Given the description of an element on the screen output the (x, y) to click on. 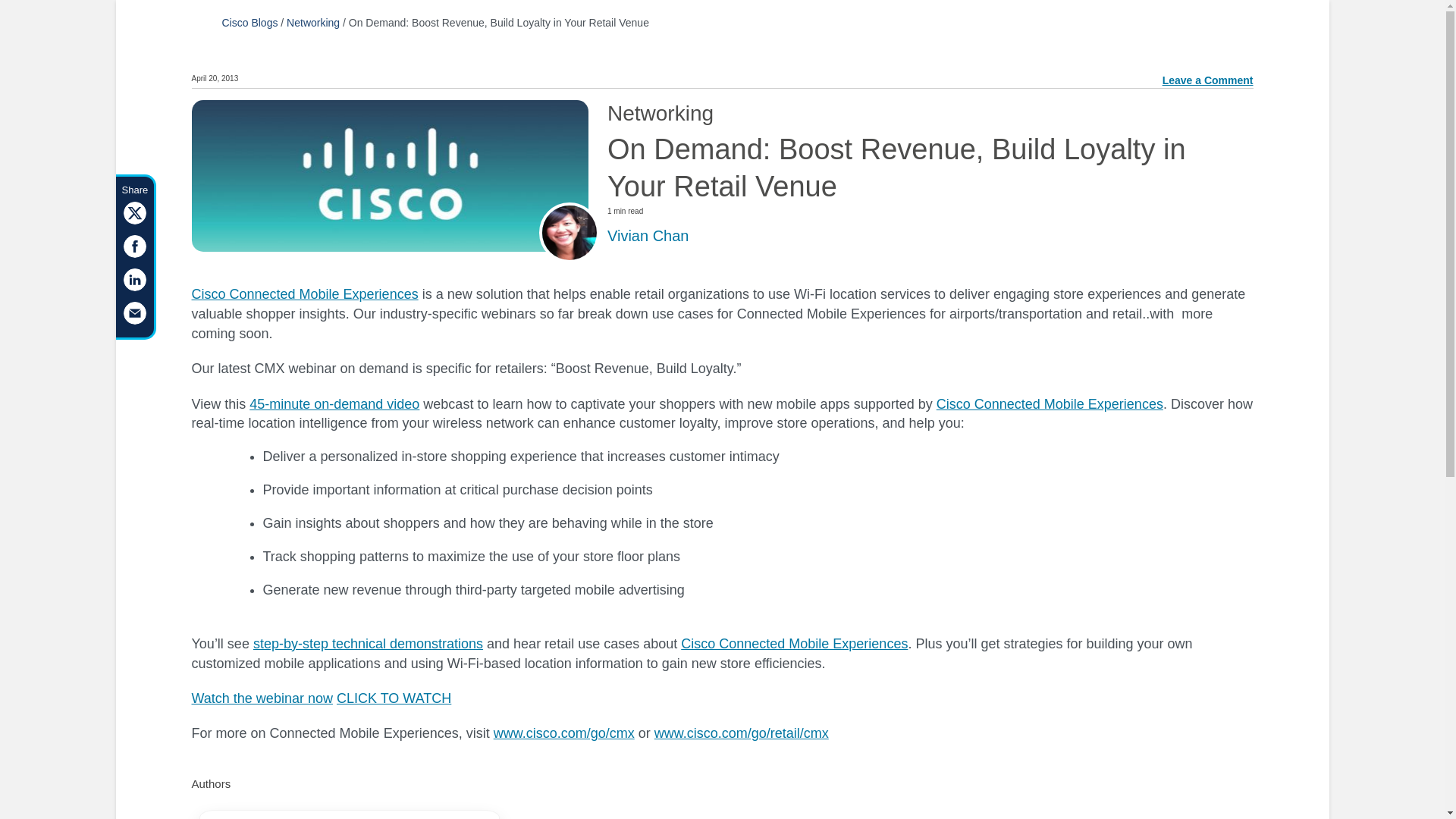
Cisco Connected Mobile Experiences (1049, 403)
45-minute on-demand video (333, 403)
Cisco Blogs (249, 22)
Cisco Connected Mobile Experiences (303, 294)
CLICK TO WATCH (393, 698)
Cisco Connected Mobile Experiences (794, 643)
Vivian Chan (647, 235)
Posts by Vivian Chan (647, 235)
Networking (312, 22)
Watch the webinar now (260, 698)
